Given the description of an element on the screen output the (x, y) to click on. 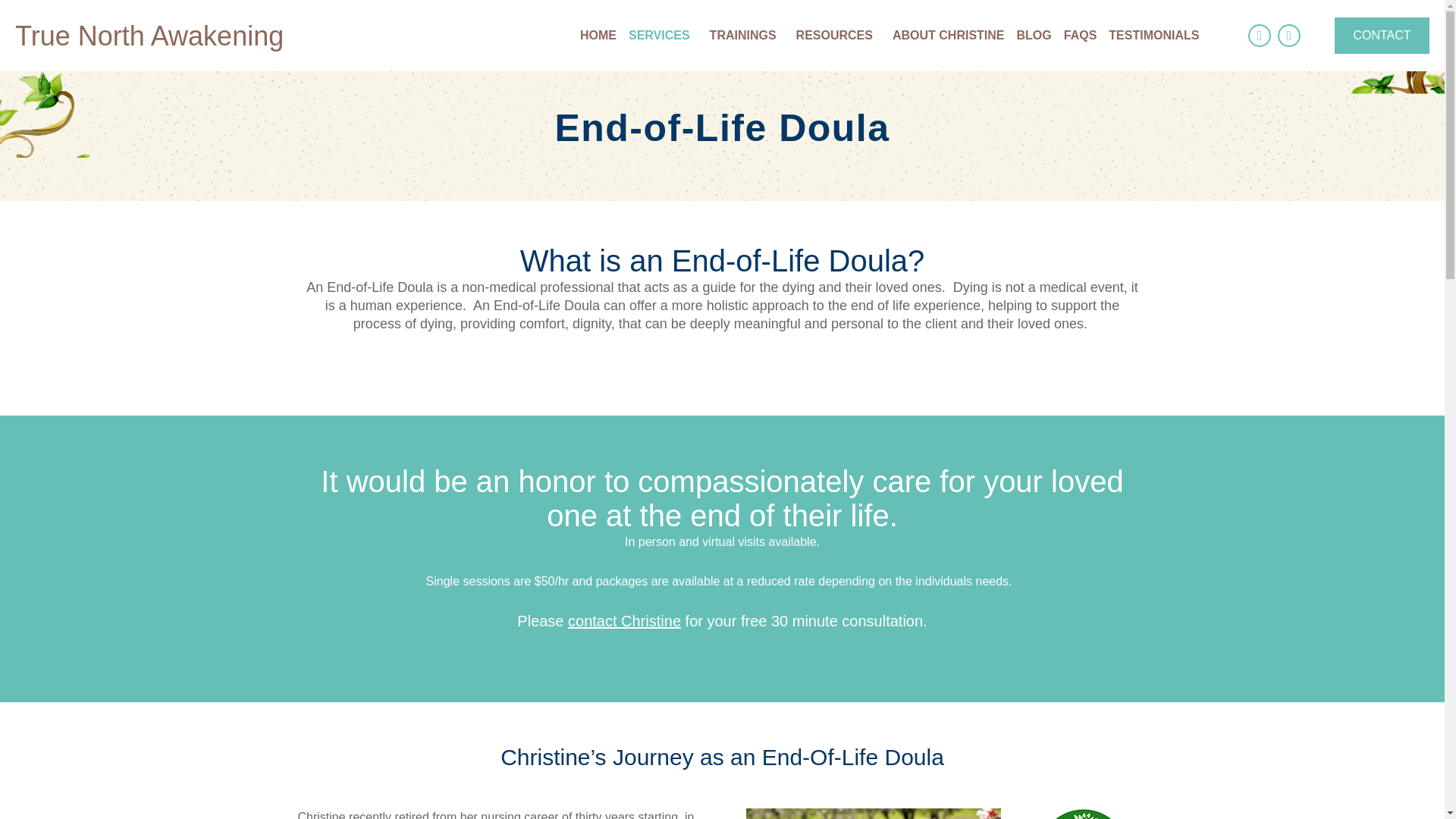
TRAININGS (746, 35)
RESOURCES (838, 35)
TESTIMONIALS (1153, 35)
HOME (598, 35)
Facebook-f (1259, 35)
Linkedin-in (1289, 35)
contact Christine (624, 620)
ABOUT CHRISTINE (948, 35)
CONTACT (1381, 35)
FAQS (1080, 35)
